Given the description of an element on the screen output the (x, y) to click on. 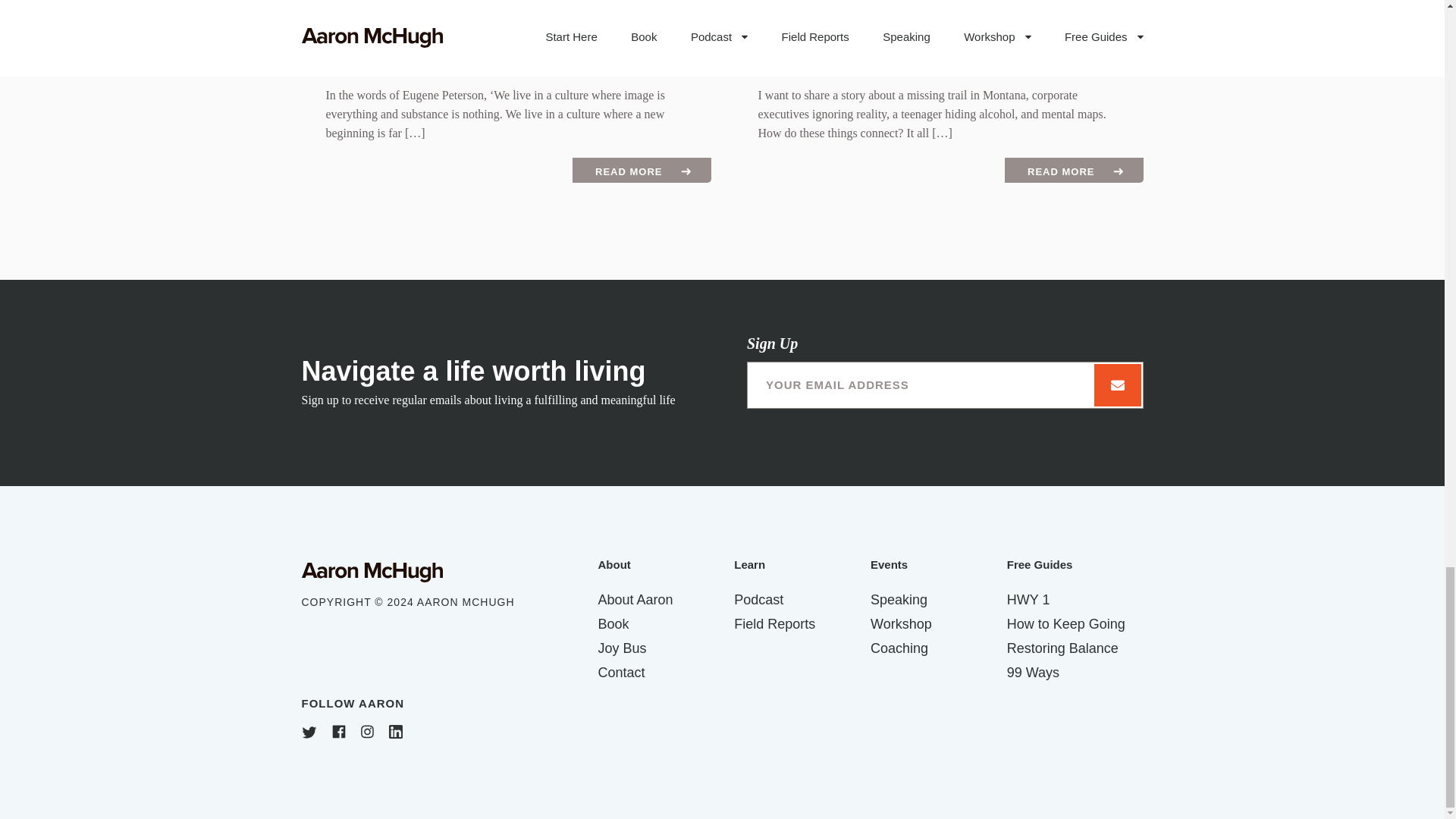
Workshop (900, 623)
How to Keep Going (1066, 623)
Podcast (758, 599)
Joy Bus (621, 648)
Restoring Balance (1062, 648)
Coaching (899, 648)
About Aaron (634, 599)
Book (612, 623)
99 Ways (1033, 672)
Field Reports (774, 623)
